Given the description of an element on the screen output the (x, y) to click on. 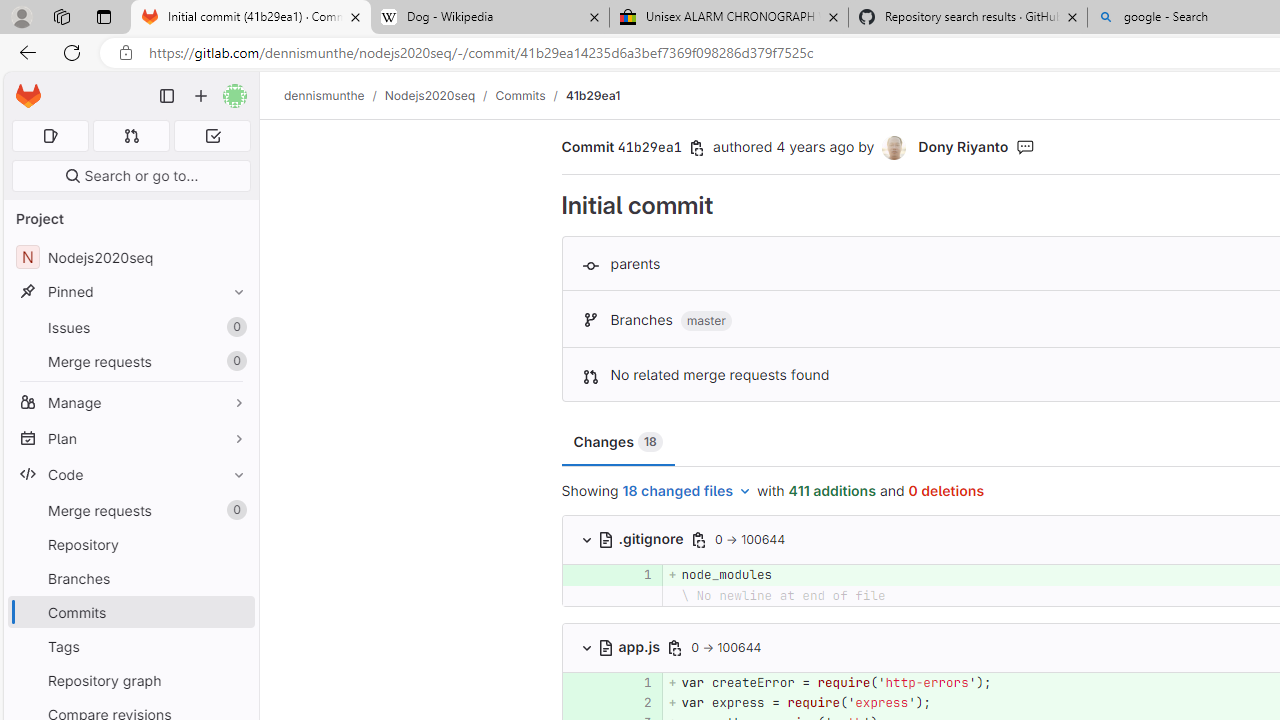
Commits (130, 612)
Pin Branches (234, 578)
Pin Commits (234, 611)
Plan (130, 438)
2 (637, 701)
41b29ea1 (592, 95)
Pin Repository graph (234, 680)
Skip to main content (23, 87)
Manage (130, 402)
Commits (520, 95)
Dony Riyanto's avatar (896, 148)
Issues0 (130, 327)
N Nodejs2020seq (130, 257)
Close tab (1072, 16)
